Given the description of an element on the screen output the (x, y) to click on. 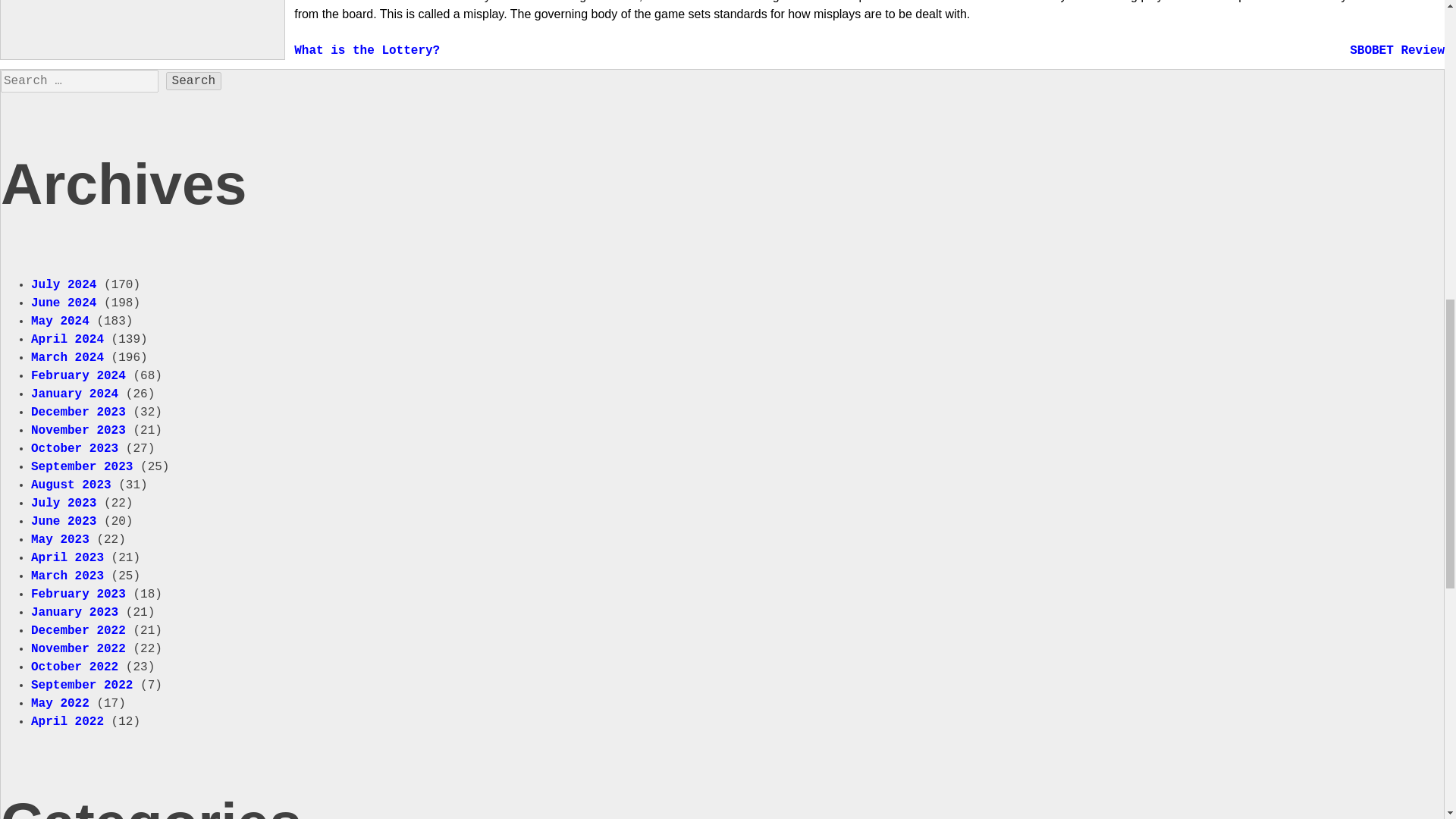
March 2024 (66, 357)
October 2022 (73, 667)
August 2023 (71, 485)
February 2024 (77, 376)
Search (193, 81)
What is the Lottery? (366, 50)
February 2023 (77, 594)
October 2023 (73, 448)
May 2022 (59, 703)
Search (193, 81)
September 2022 (81, 685)
November 2022 (77, 649)
June 2023 (63, 521)
January 2023 (73, 612)
Search (193, 81)
